Given the description of an element on the screen output the (x, y) to click on. 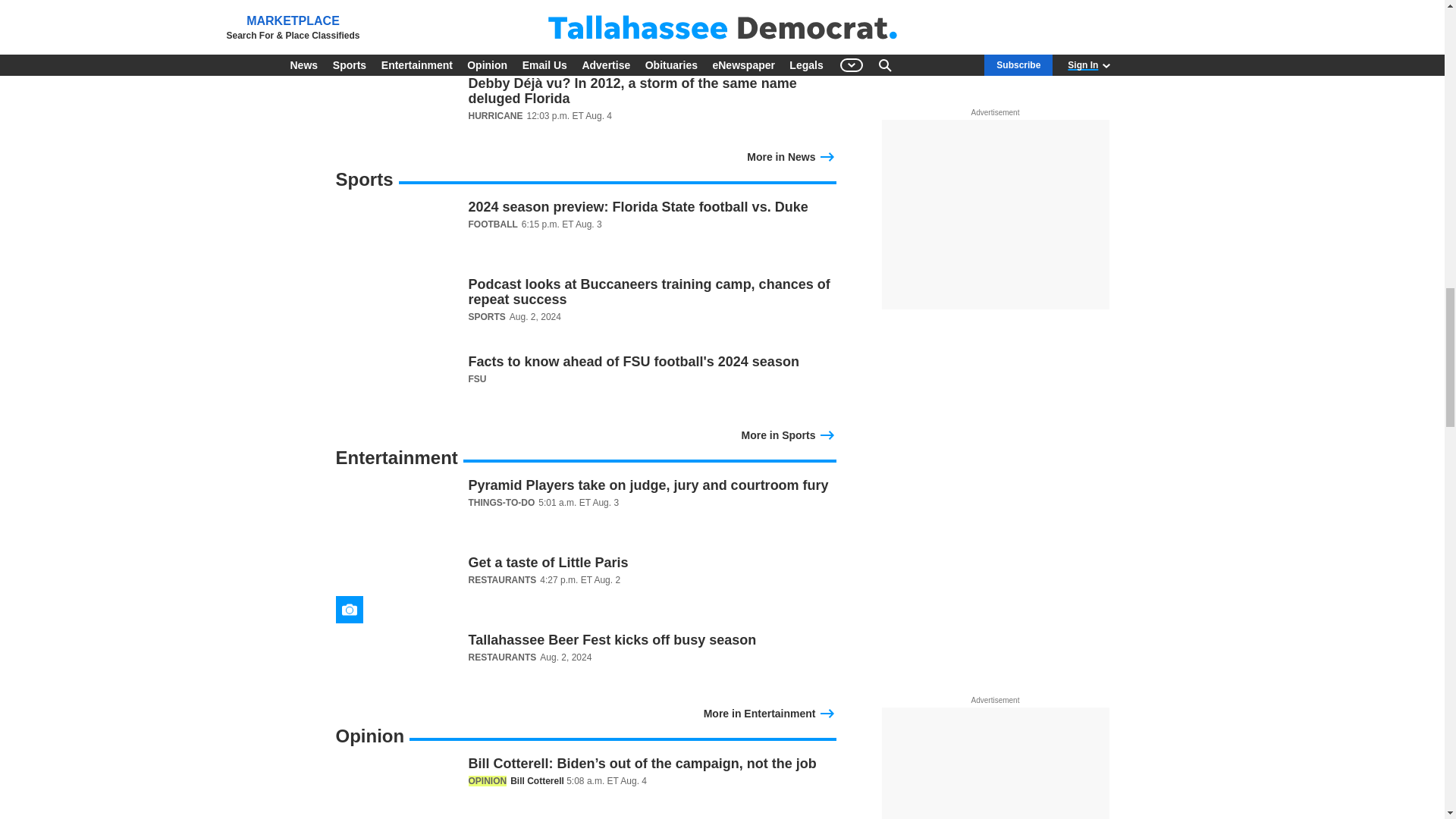
Facts to know ahead of FSU football's 2024 season  (584, 387)
More in News (790, 155)
2024 season preview: Florida State football vs. Duke  (584, 233)
Tallahassee Beer Fest kicks off busy season  (584, 666)
Get a taste of Little Paris  (584, 589)
More in Sports (788, 433)
Pyramid Players take on judge, jury and courtroom fury  (584, 511)
